Given the description of an element on the screen output the (x, y) to click on. 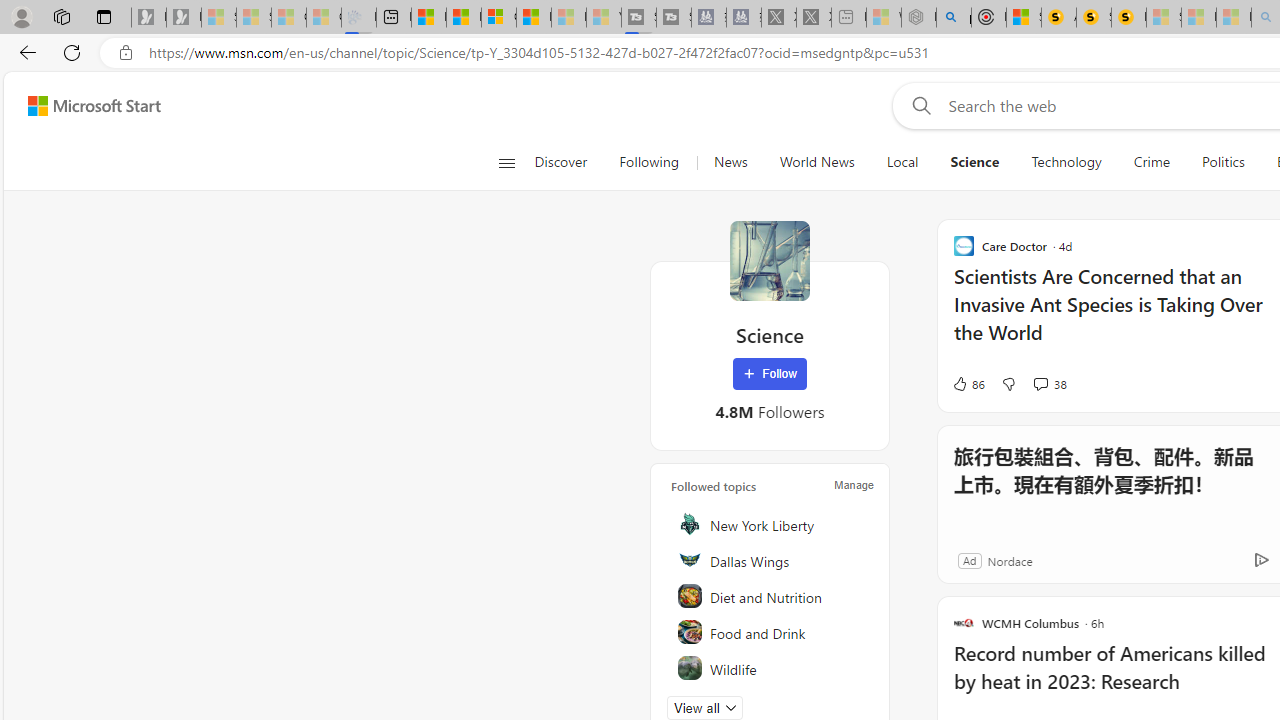
Crime (1151, 162)
News (730, 162)
